Given the description of an element on the screen output the (x, y) to click on. 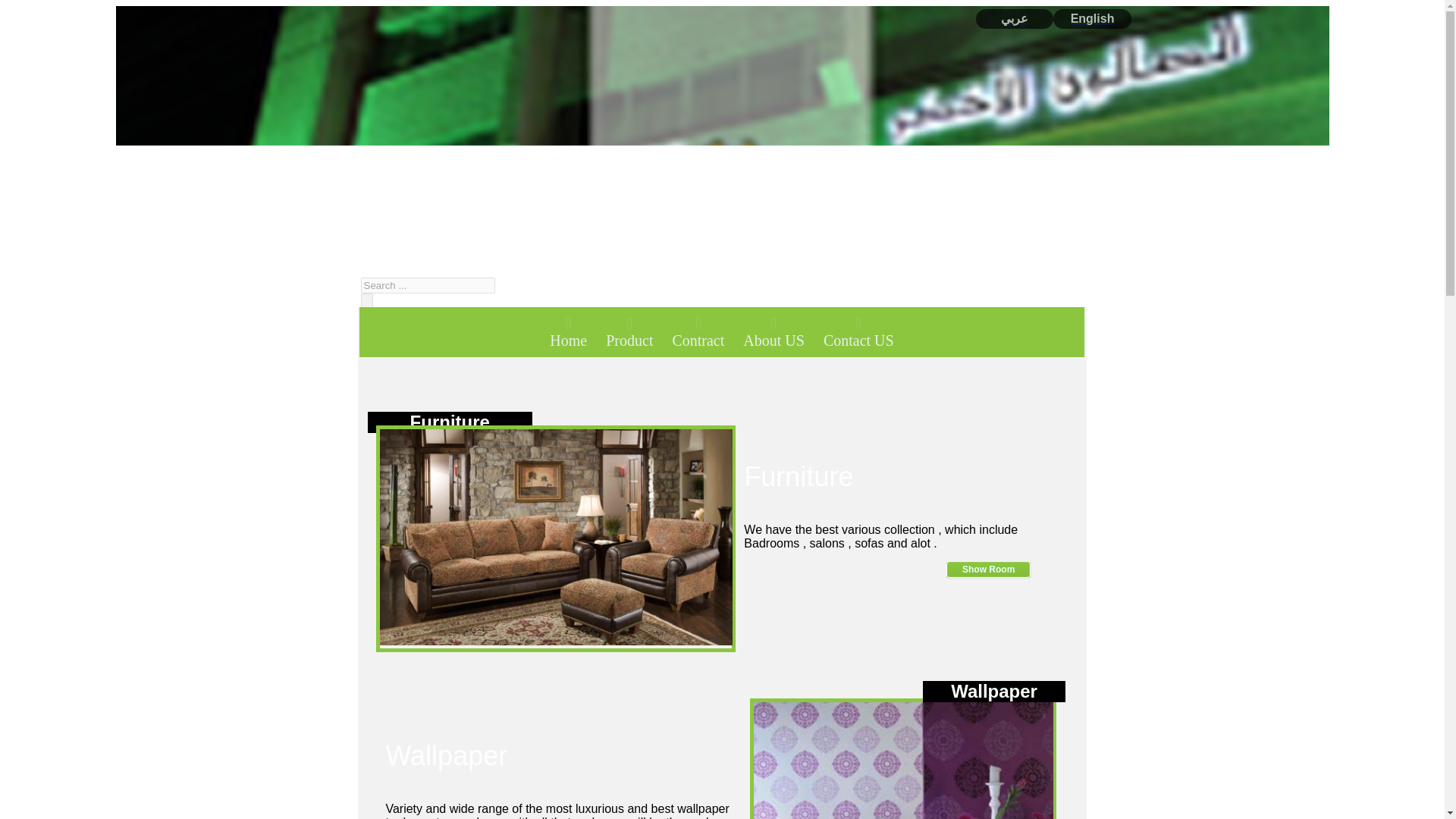
English (1092, 18)
